Given the description of an element on the screen output the (x, y) to click on. 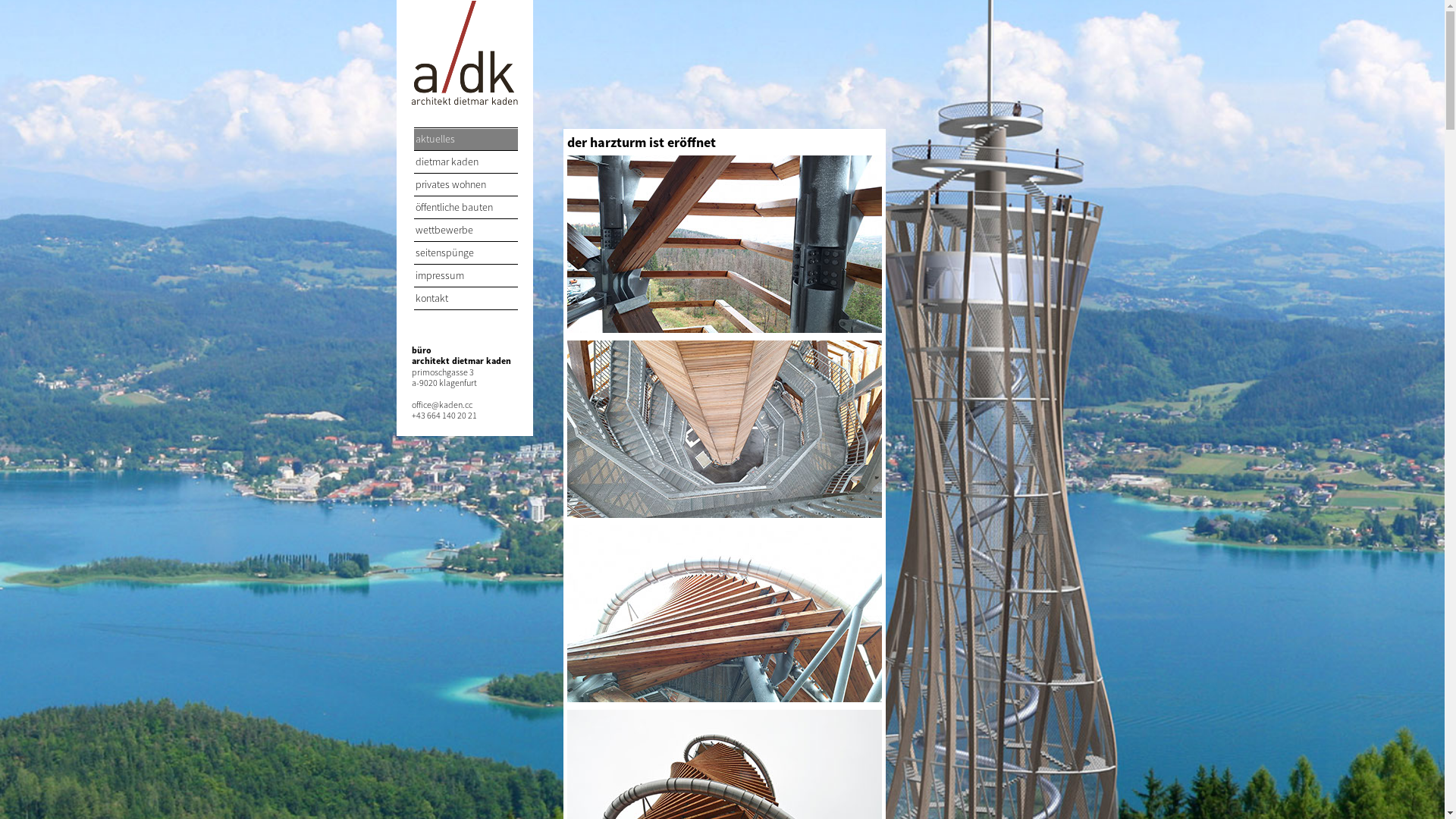
aktuelles Element type: text (465, 139)
impressum Element type: text (465, 276)
privates wohnen Element type: text (465, 185)
wettbewerbe Element type: text (465, 230)
kontakt Element type: text (465, 299)
